Given the description of an element on the screen output the (x, y) to click on. 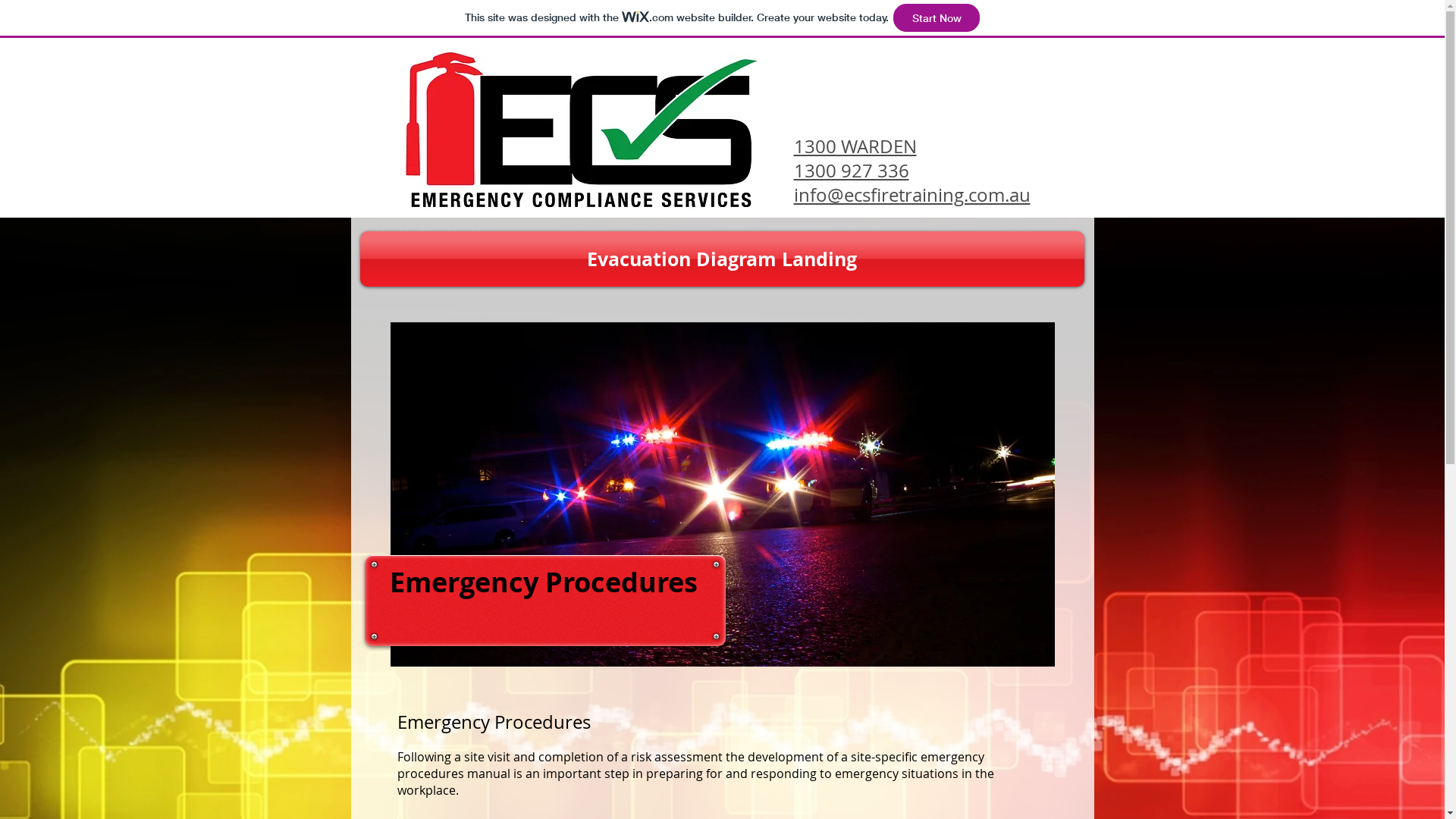
Evacuation Diagram Landing Element type: text (721, 258)
1300 WARDEN Element type: text (854, 146)
1300 927 336 Element type: text (850, 170)
info@ecsfiretraining.com.au Element type: text (911, 194)
